Given the description of an element on the screen output the (x, y) to click on. 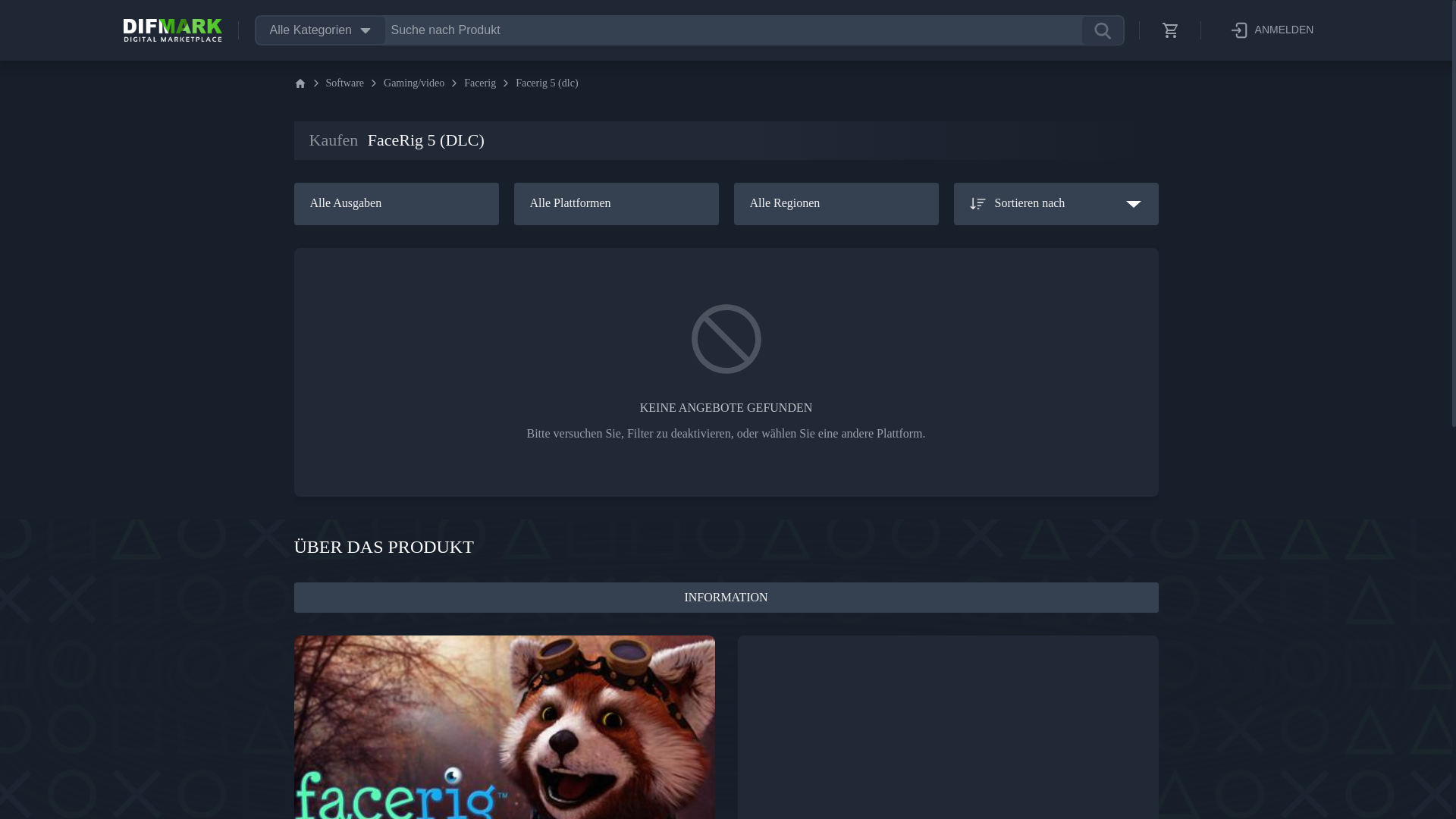
Software (345, 83)
Facerig (480, 83)
INFORMATION (726, 597)
ANMELDEN (1270, 30)
